Given the description of an element on the screen output the (x, y) to click on. 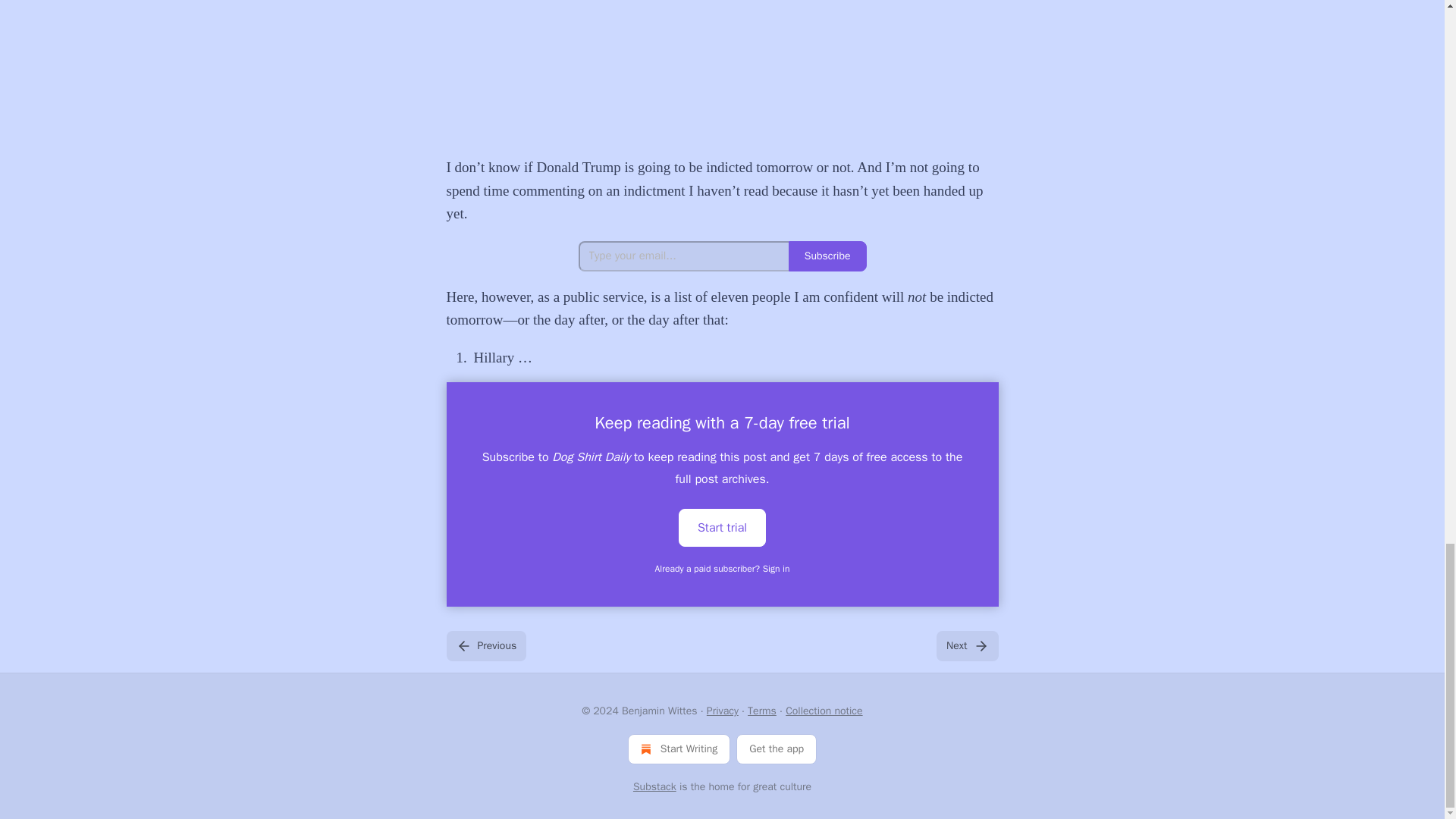
Start trial (721, 527)
Terms (762, 710)
Subscribe (827, 255)
Get the app (776, 748)
Substack (655, 786)
Next (966, 645)
Start Writing (678, 748)
Previous (485, 645)
Start trial (721, 526)
